Given the description of an element on the screen output the (x, y) to click on. 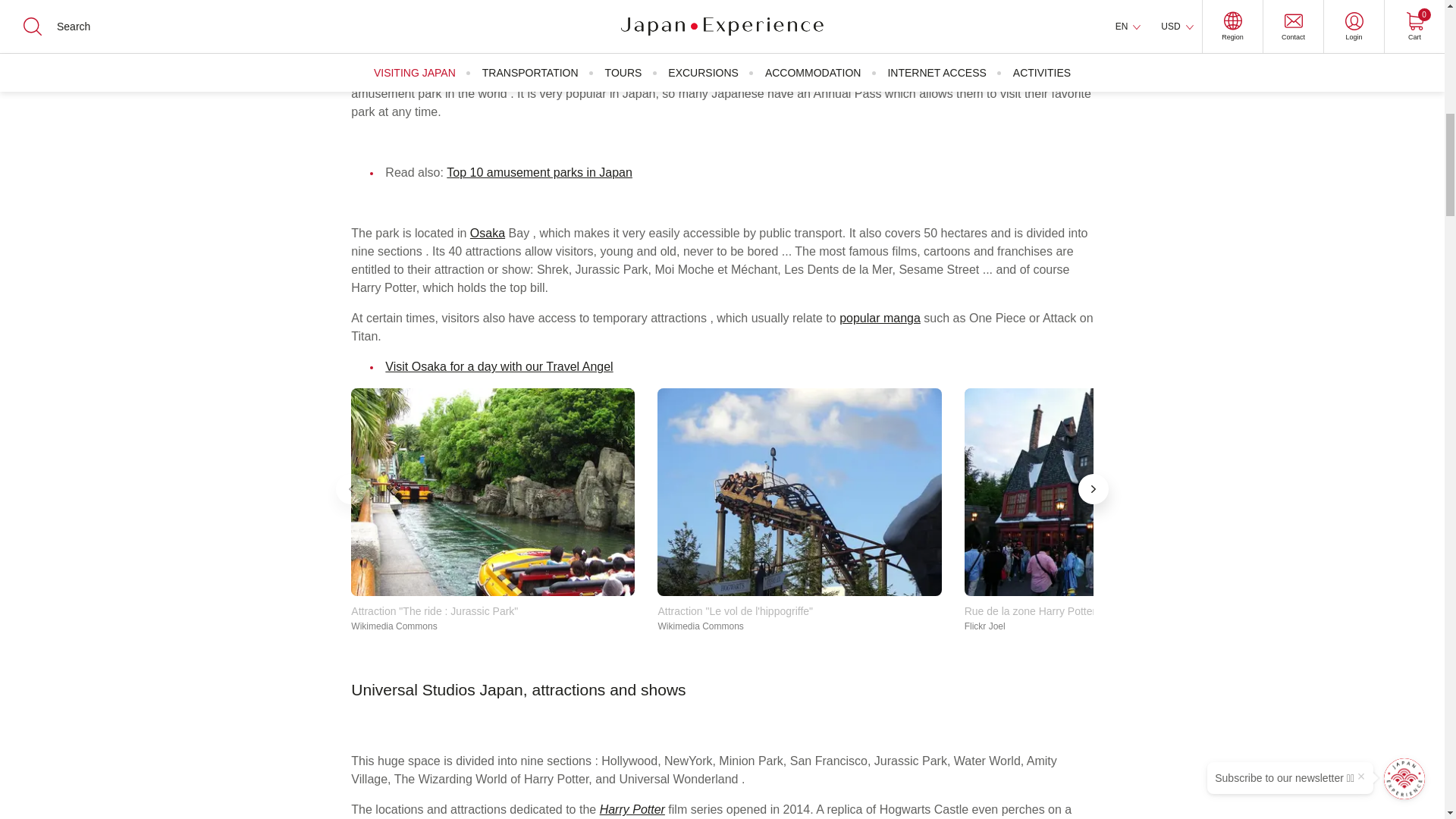
Universal Studios Japan (492, 492)
Universal Studios Japan (799, 492)
Universal Studios Japan (1105, 492)
